Given the description of an element on the screen output the (x, y) to click on. 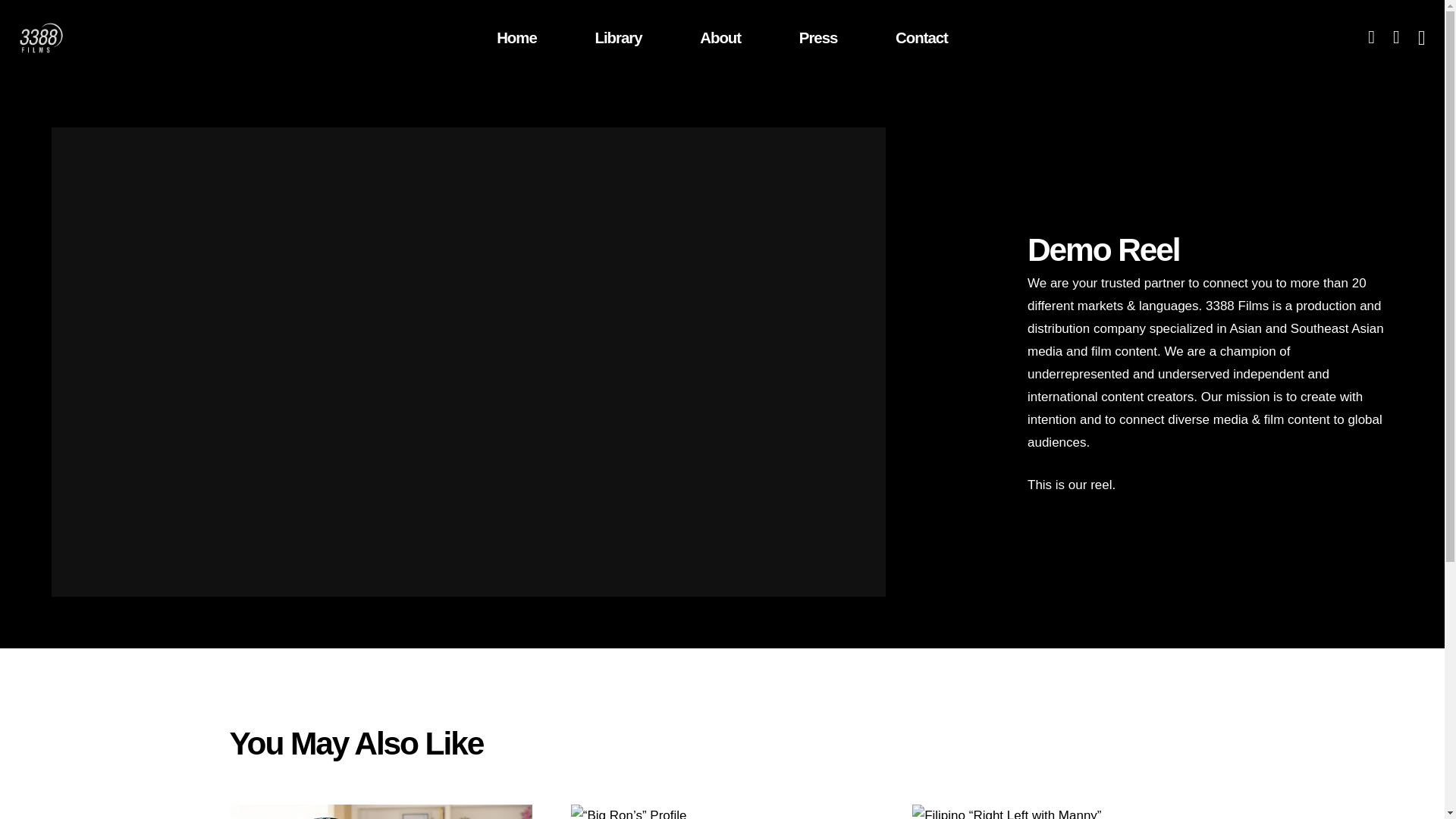
Home (516, 38)
Press (818, 38)
Library (618, 38)
About (720, 38)
Contact (921, 38)
